Given the description of an element on the screen output the (x, y) to click on. 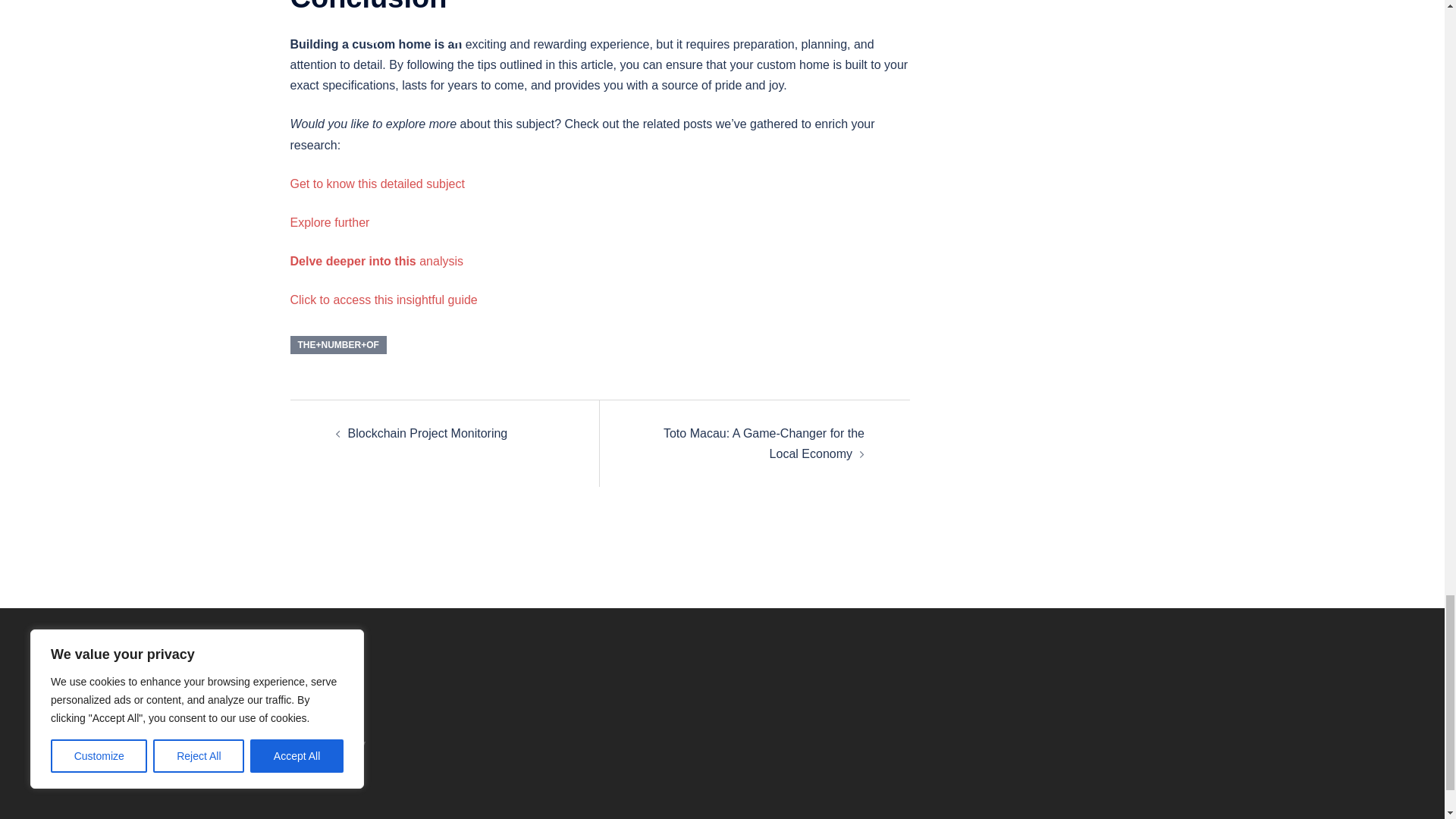
Explore further (329, 222)
Click to access this insightful guide (383, 299)
Toto Macau: A Game-Changer for the Local Economy (763, 443)
Delve deeper into this analysis (376, 260)
Blockchain Project Monitoring (426, 432)
Get to know this detailed subject (376, 183)
